Given the description of an element on the screen output the (x, y) to click on. 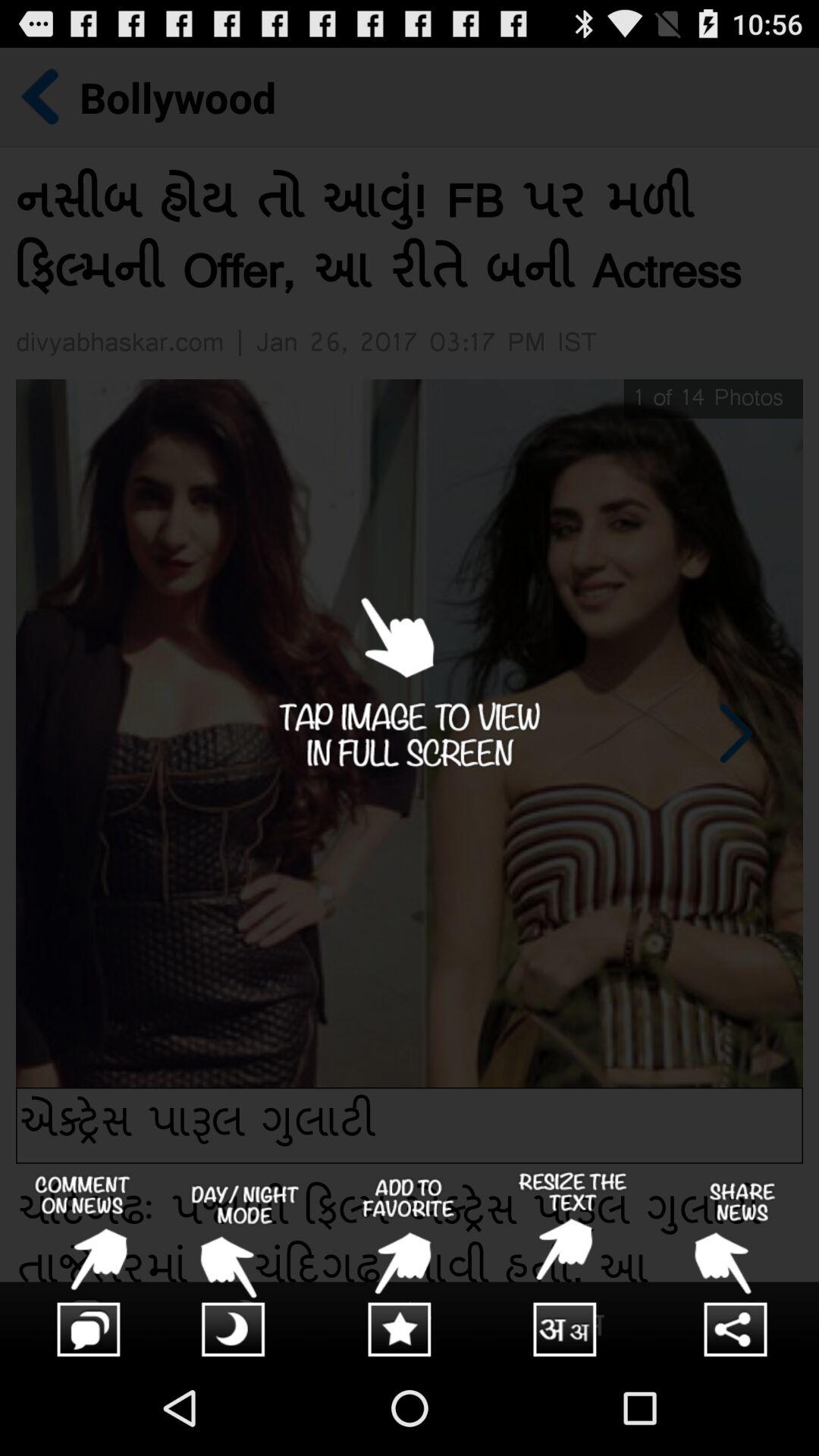
resize text (573, 1265)
